Given the description of an element on the screen output the (x, y) to click on. 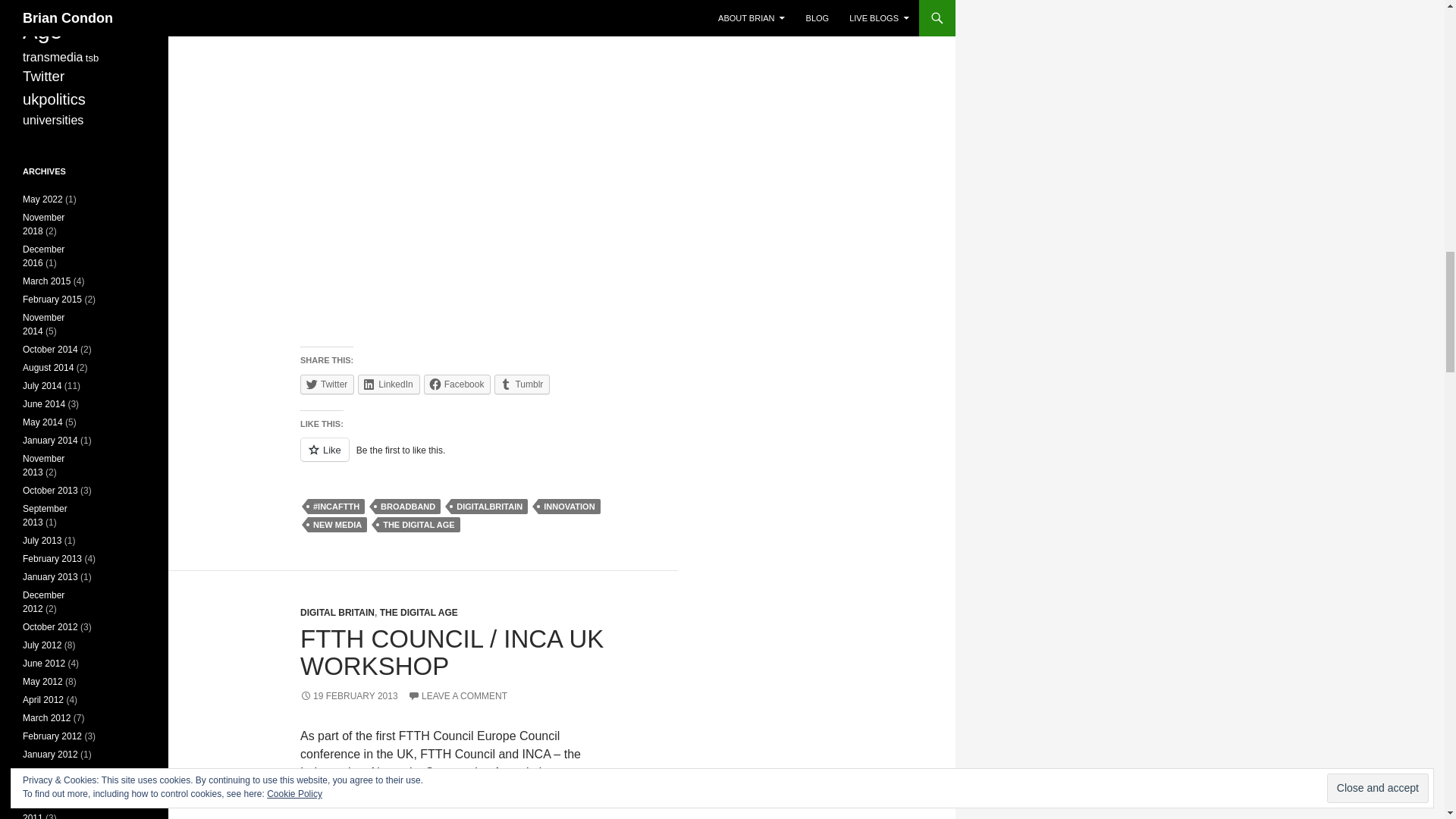
Click to share on Twitter (326, 383)
Click to share on LinkedIn (388, 383)
Like or Reblog (456, 458)
Click to share on Tumblr (522, 383)
Click to share on Facebook (457, 383)
